Given the description of an element on the screen output the (x, y) to click on. 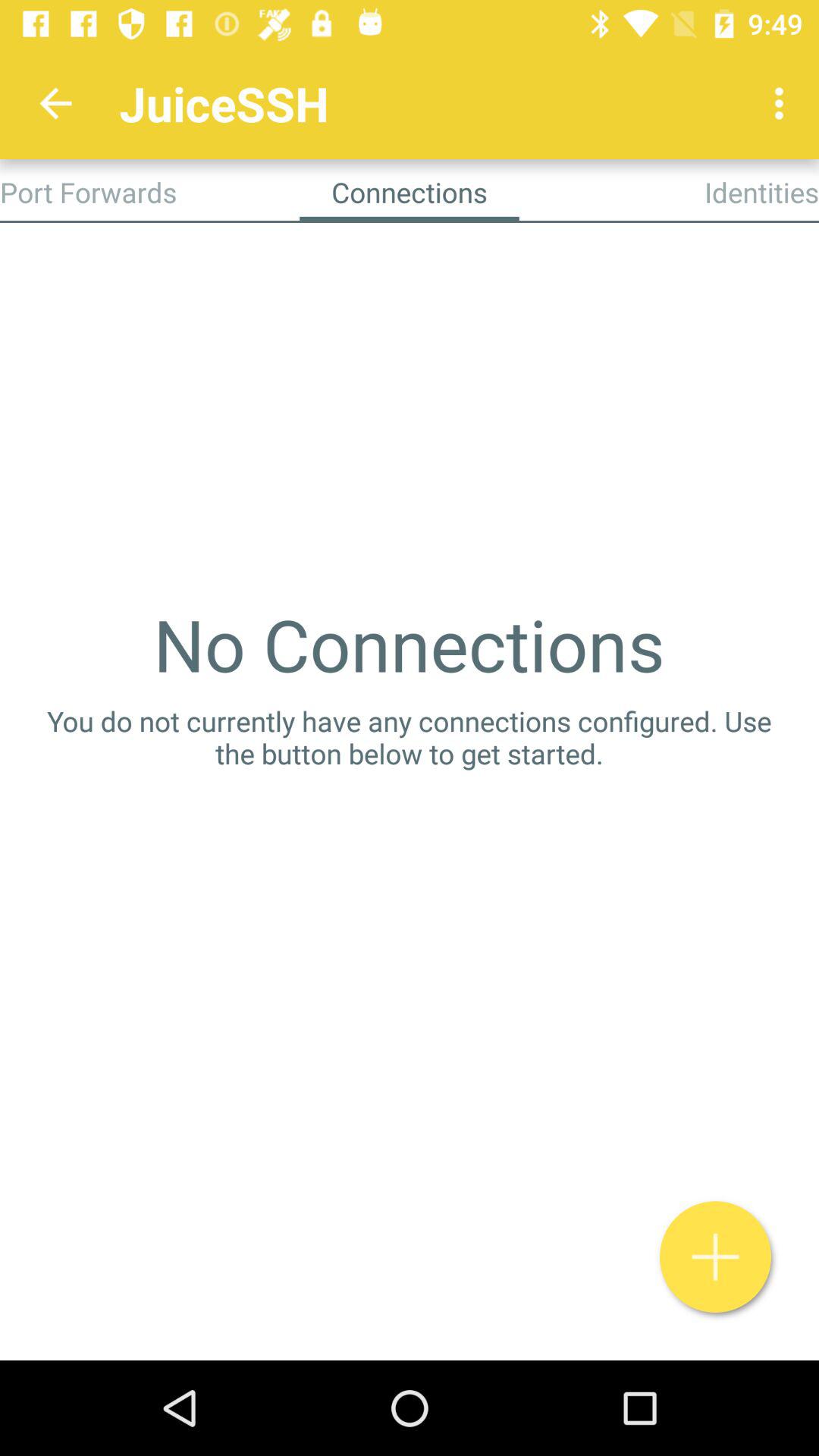
scroll until port forwards icon (88, 192)
